Given the description of an element on the screen output the (x, y) to click on. 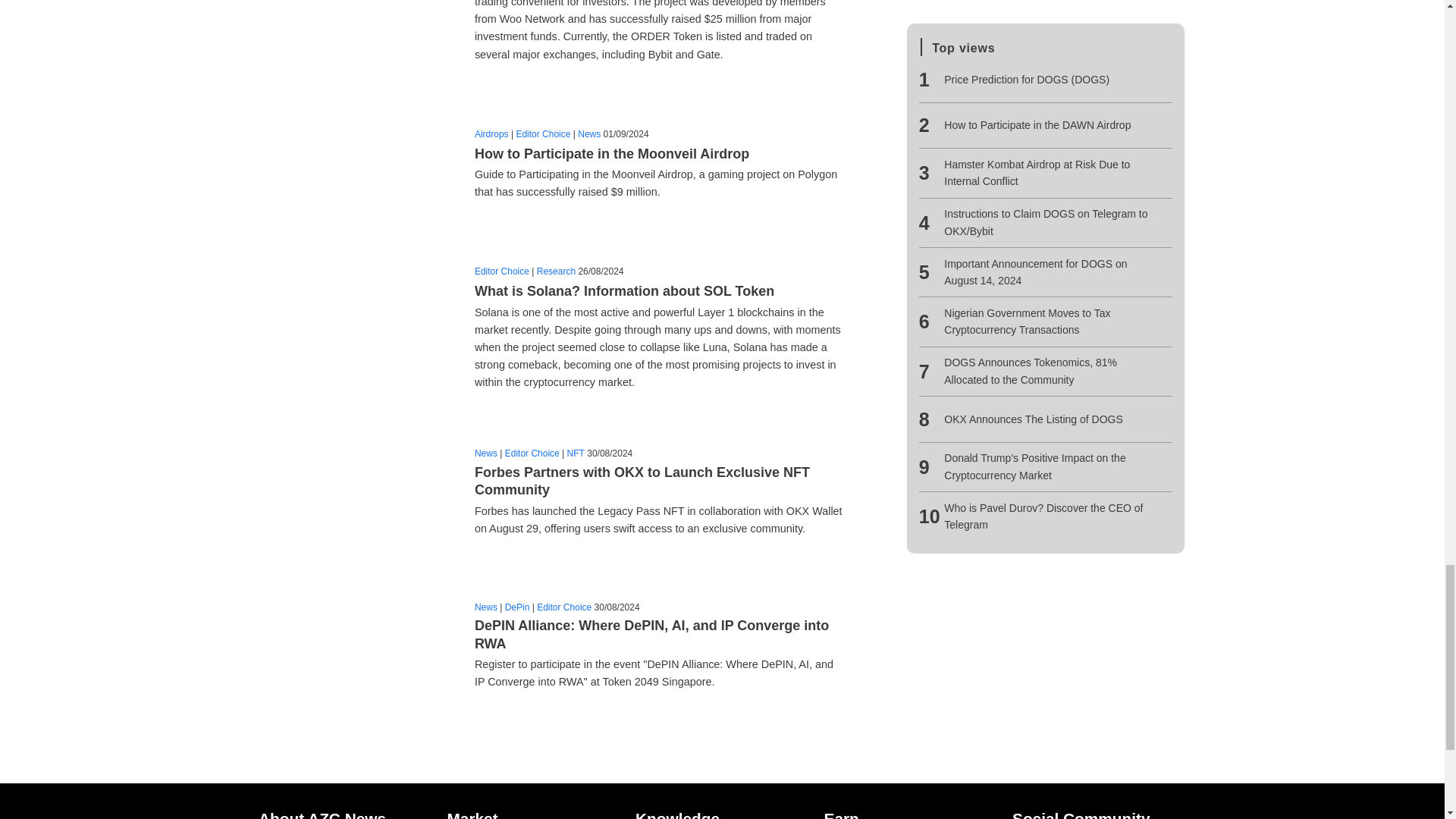
How to Participate in the Moonveil Airdrop 5 (358, 167)
Forbes Partners with OKX to Launch Exclusive NFT Community 7 (358, 495)
What is Solana? Information about SOL Token 6 (358, 331)
DePIN Alliance: Where DePIN, AI, and IP Converge into RWA 8 (358, 648)
What is Orderly Network? Information about ORDER Token 4 (358, 30)
